Given the description of an element on the screen output the (x, y) to click on. 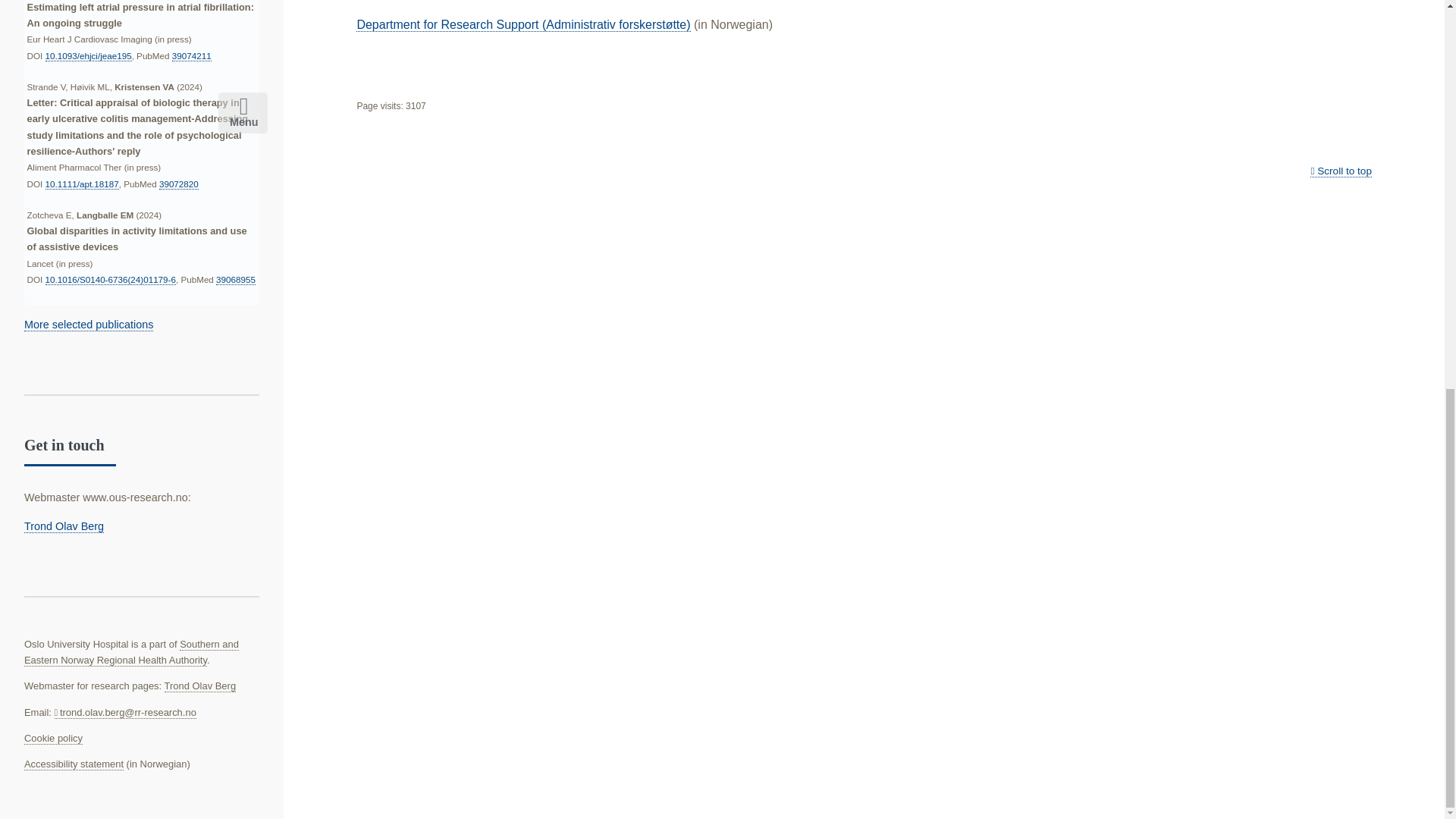
39074211 (191, 55)
Scroll to top (1340, 171)
